Given the description of an element on the screen output the (x, y) to click on. 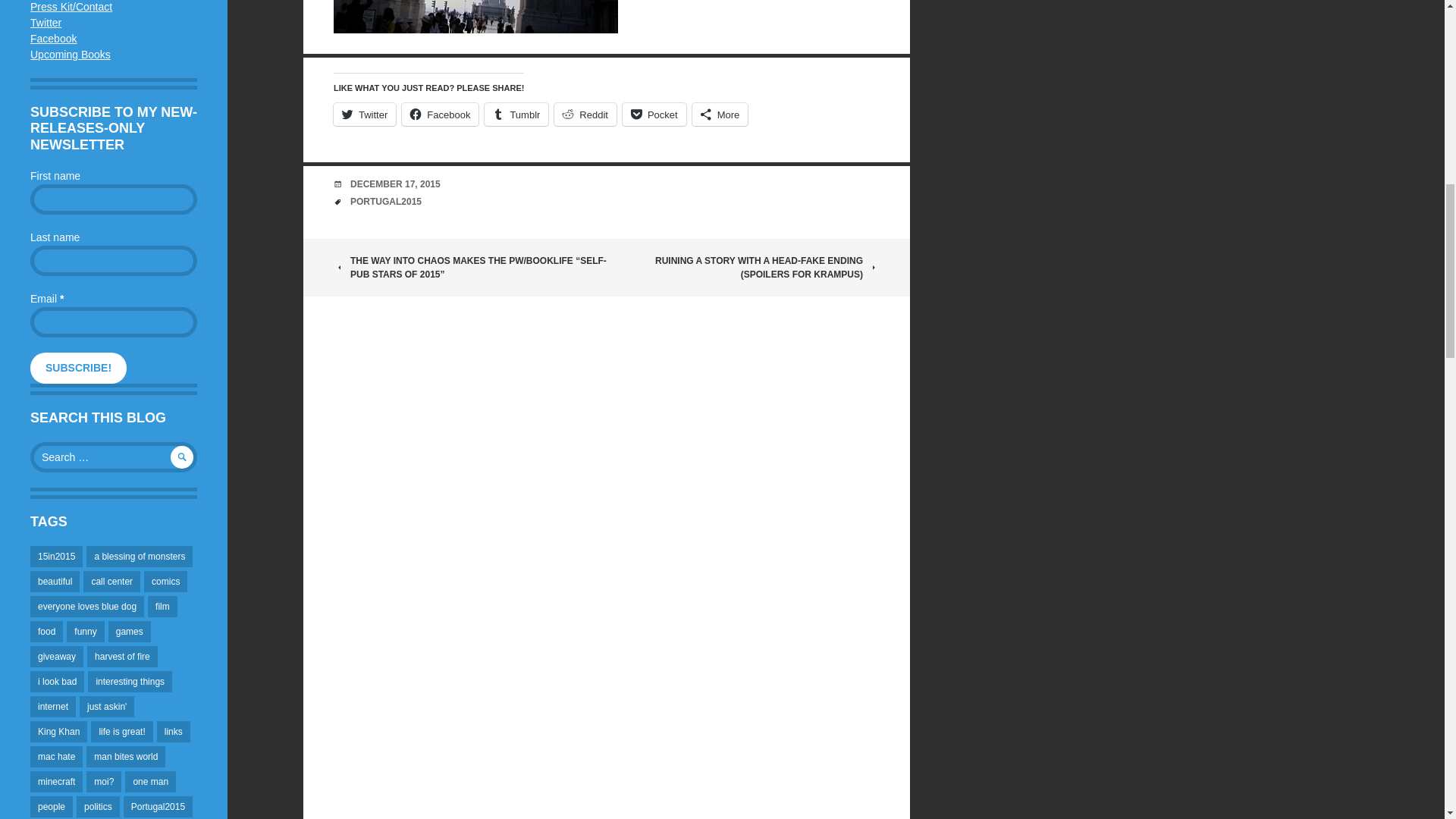
Last name (113, 260)
First name (113, 199)
games (129, 631)
food (46, 631)
film (162, 606)
Search for: (113, 457)
people (51, 806)
everyone loves blue dog (87, 606)
Press Kit (71, 6)
beautiful (55, 581)
